Given the description of an element on the screen output the (x, y) to click on. 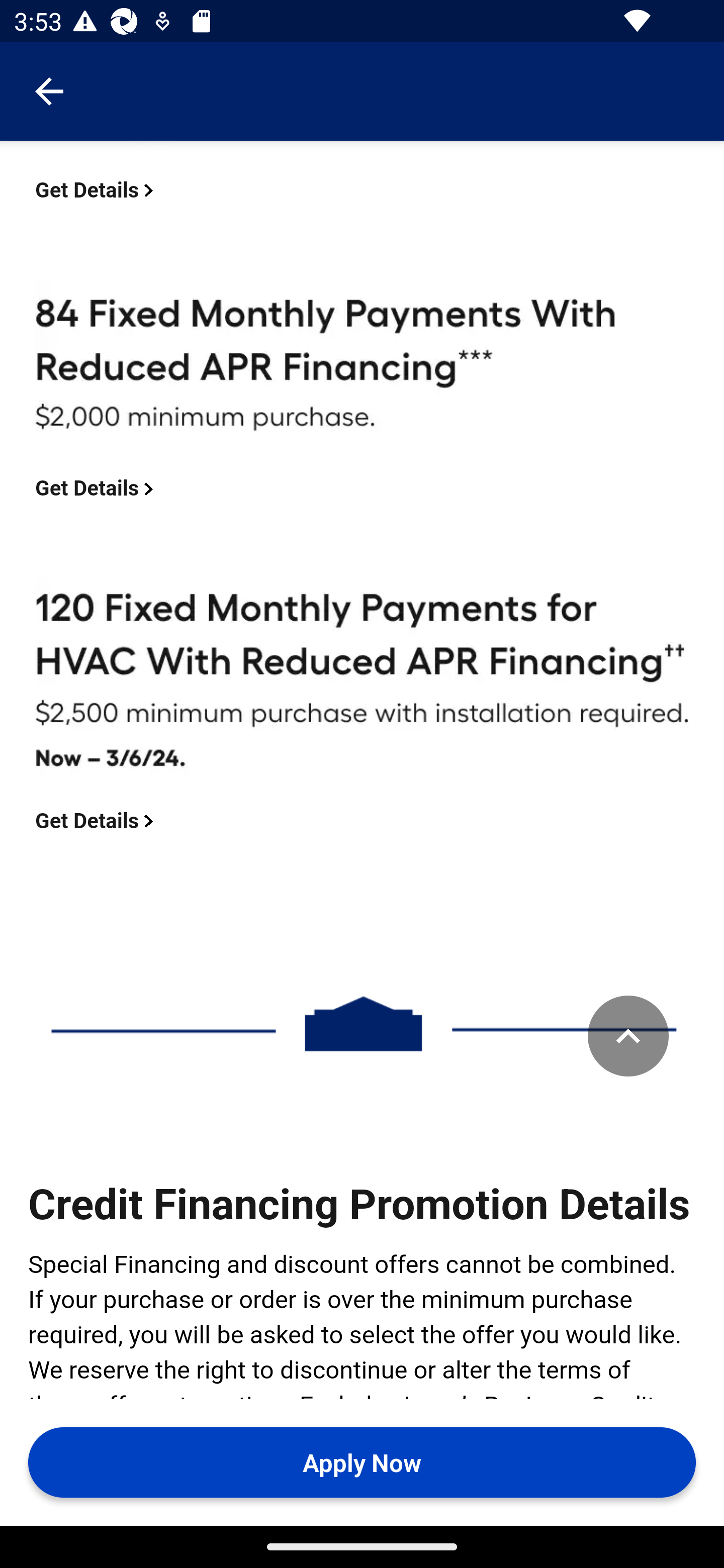
Navigate up (49, 91)
Get Details (97, 190)
Get Details (97, 489)
Get Details (97, 822)
Page divider (363, 1022)
title (628, 1036)
Apply Now (361, 1462)
